Given the description of an element on the screen output the (x, y) to click on. 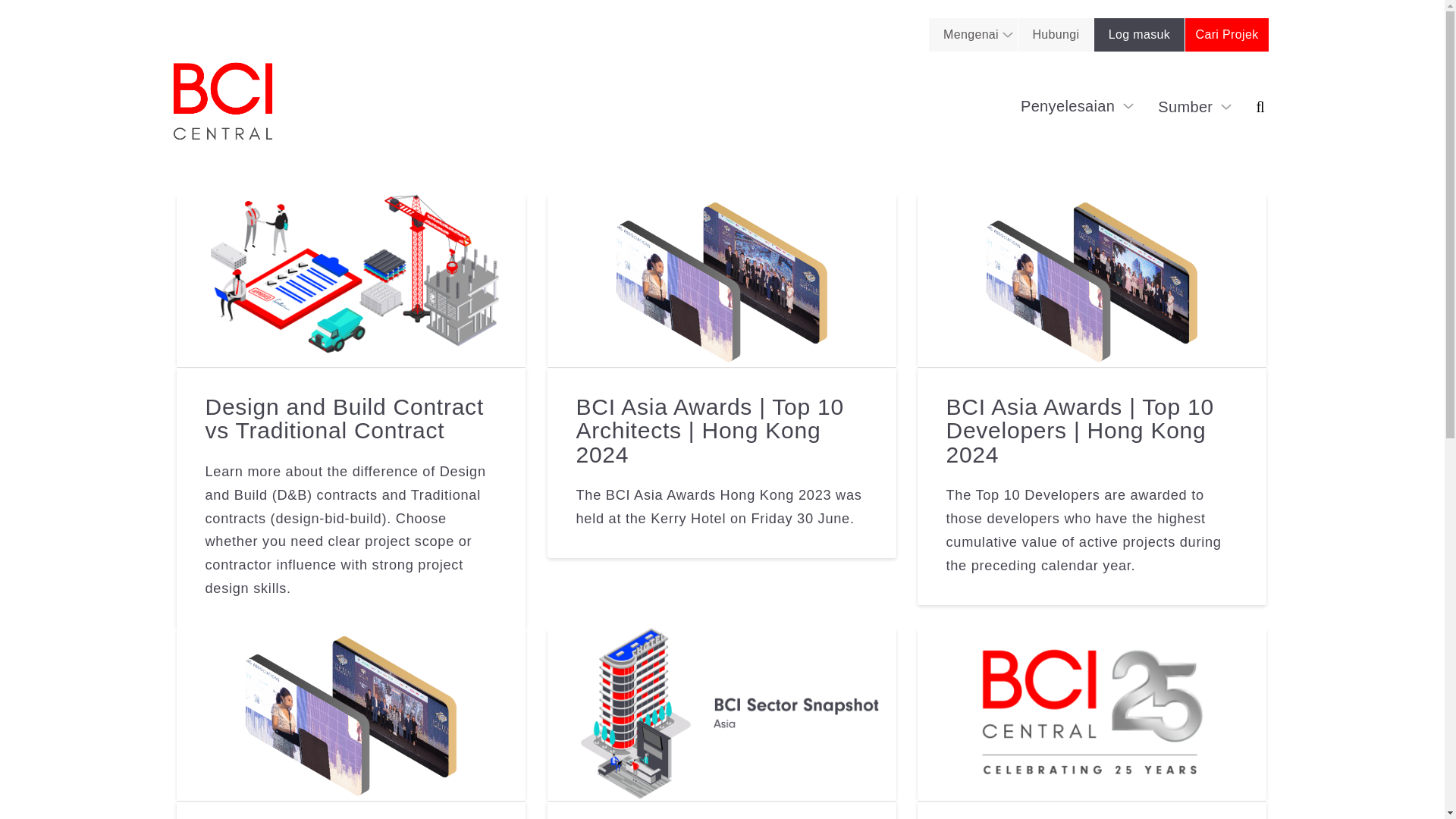
Penyelesaian (1077, 106)
Design and Build Contract vs Traditional Contract (344, 418)
Hubungi (1055, 34)
Mengenai (969, 34)
Log masuk (1139, 34)
Permalink to: "Celebrating 25 Years of BCI" (1091, 713)
Cari Projek (1226, 34)
